Given the description of an element on the screen output the (x, y) to click on. 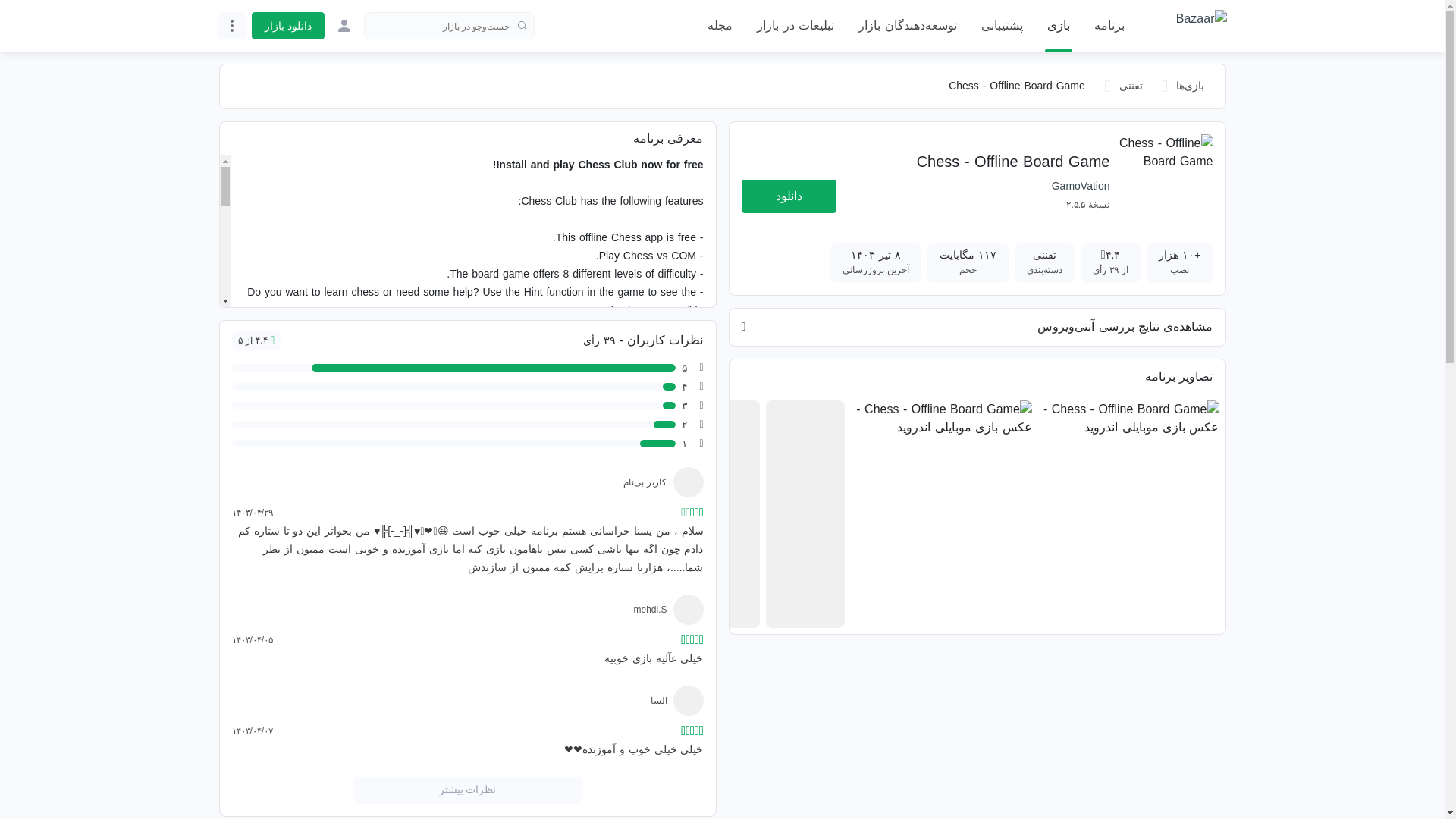
GamoVation (1080, 185)
